Given the description of an element on the screen output the (x, y) to click on. 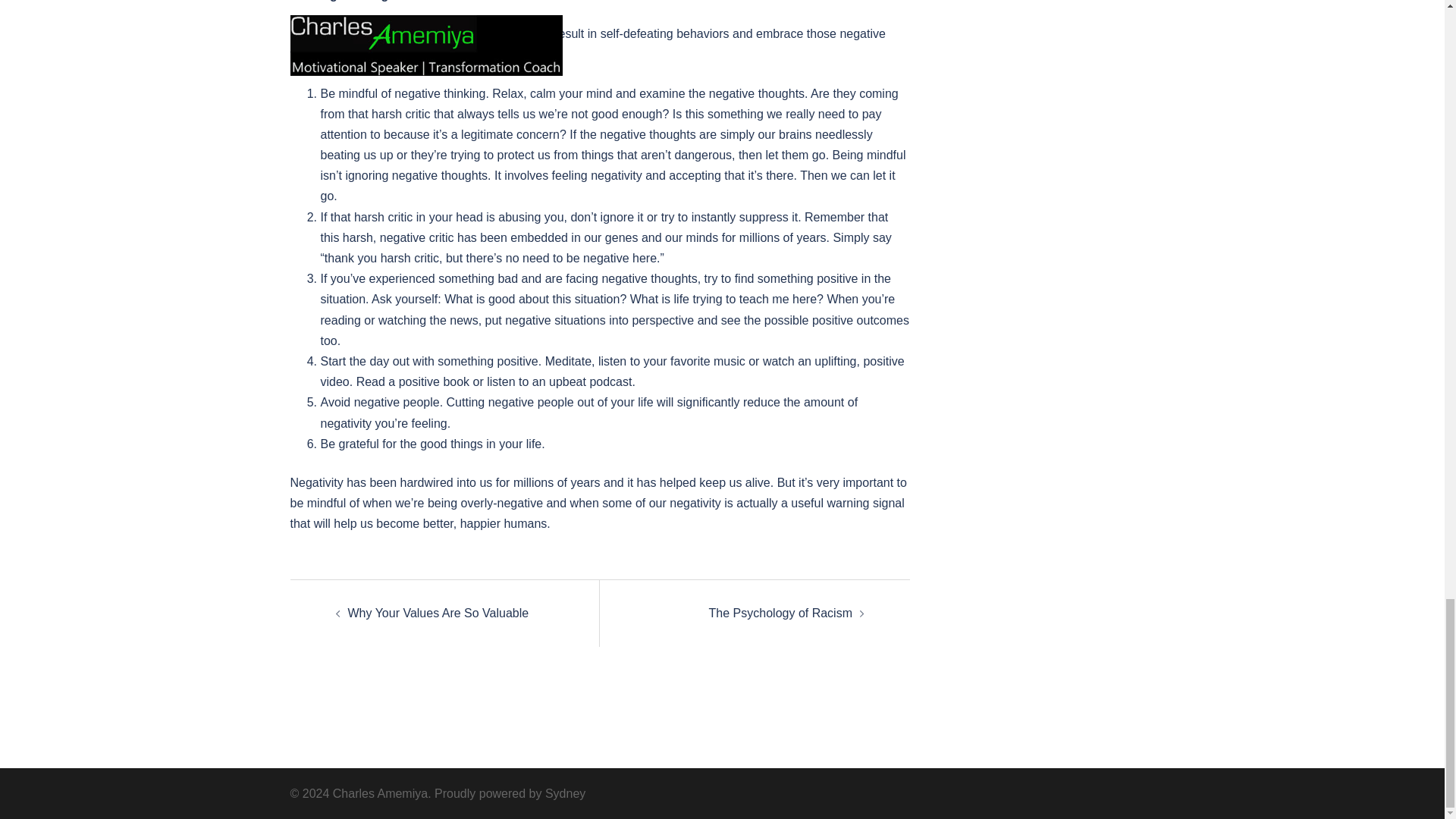
Why Your Values Are So Valuable (437, 612)
The Psychology of Racism (780, 612)
